Given the description of an element on the screen output the (x, y) to click on. 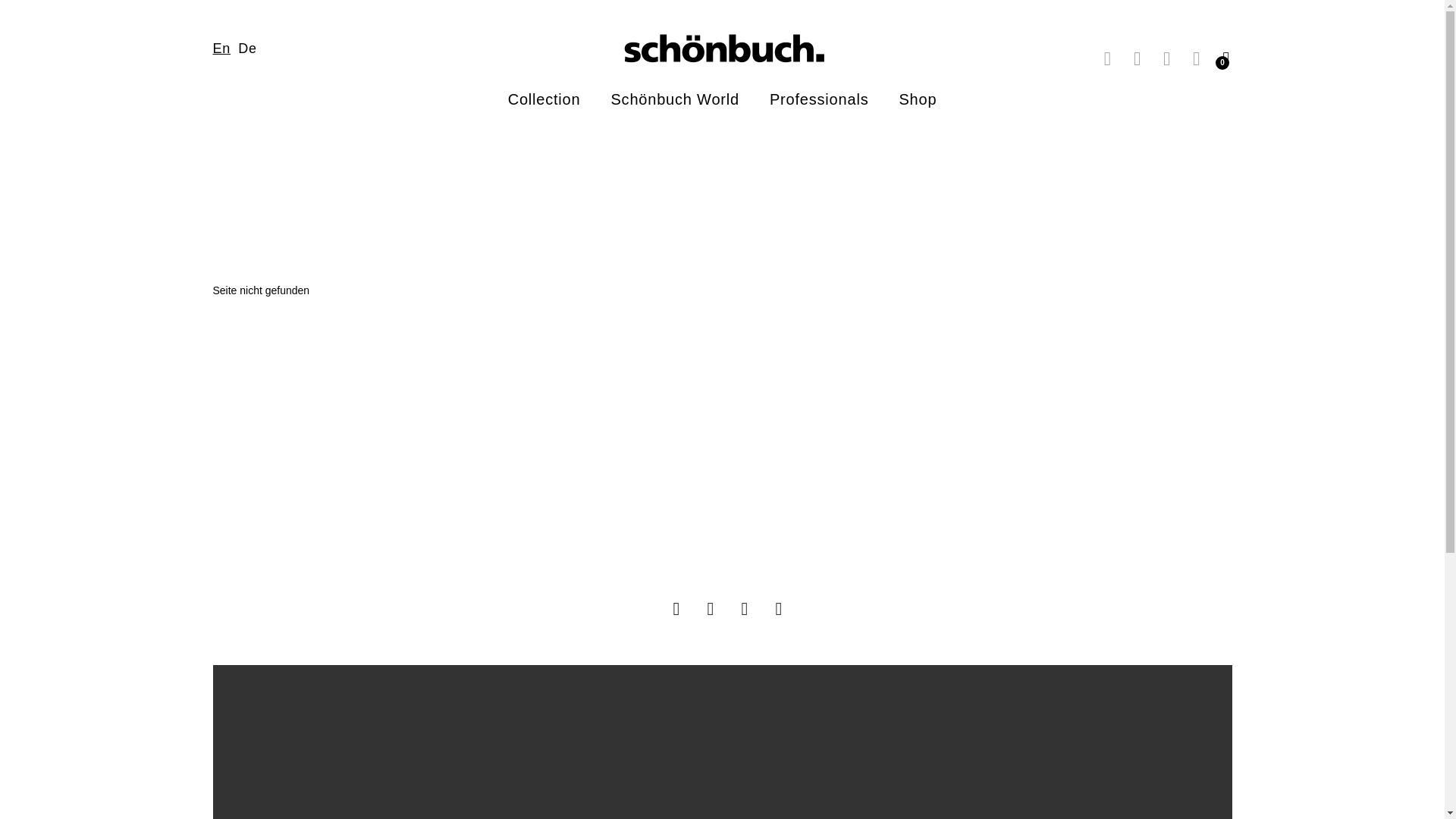
Collection (544, 99)
En (223, 47)
De (247, 48)
